Given the description of an element on the screen output the (x, y) to click on. 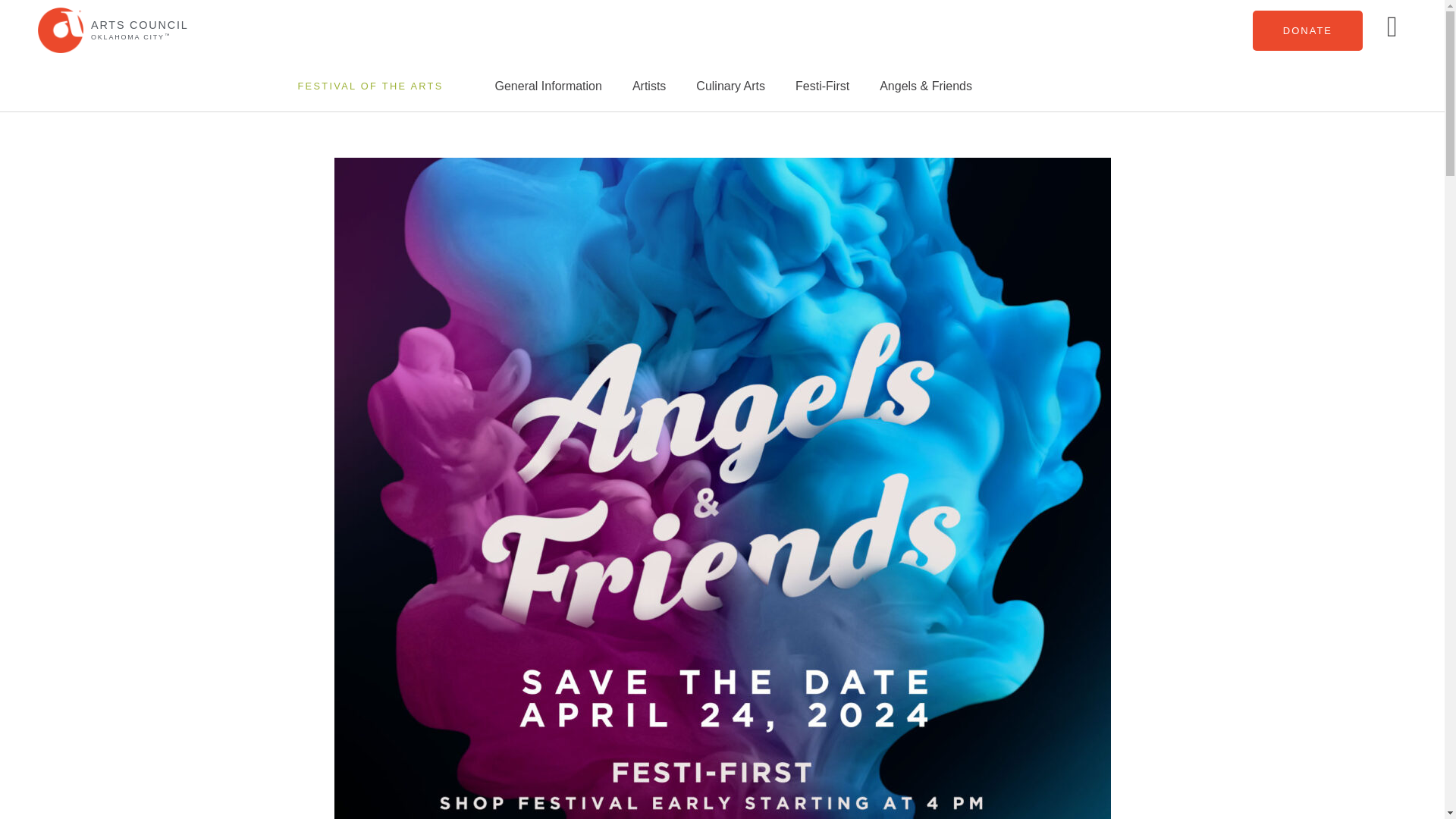
FESTIVAL OF THE ARTS (369, 85)
Culinary Arts (730, 86)
DONATE (1307, 30)
General Information (547, 86)
Artists (649, 86)
Festi-First (822, 86)
